Given the description of an element on the screen output the (x, y) to click on. 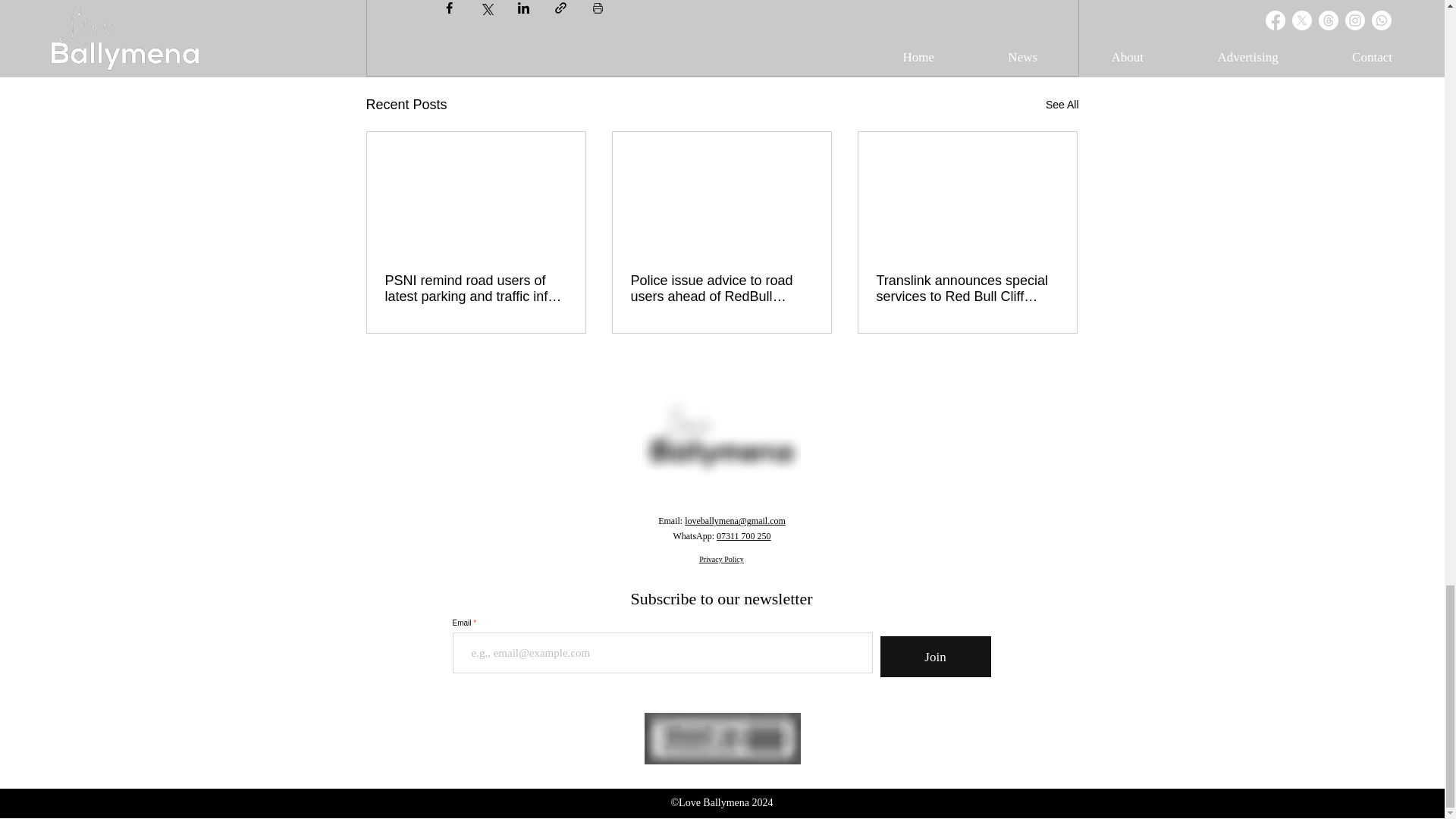
See All (1061, 105)
